Given the description of an element on the screen output the (x, y) to click on. 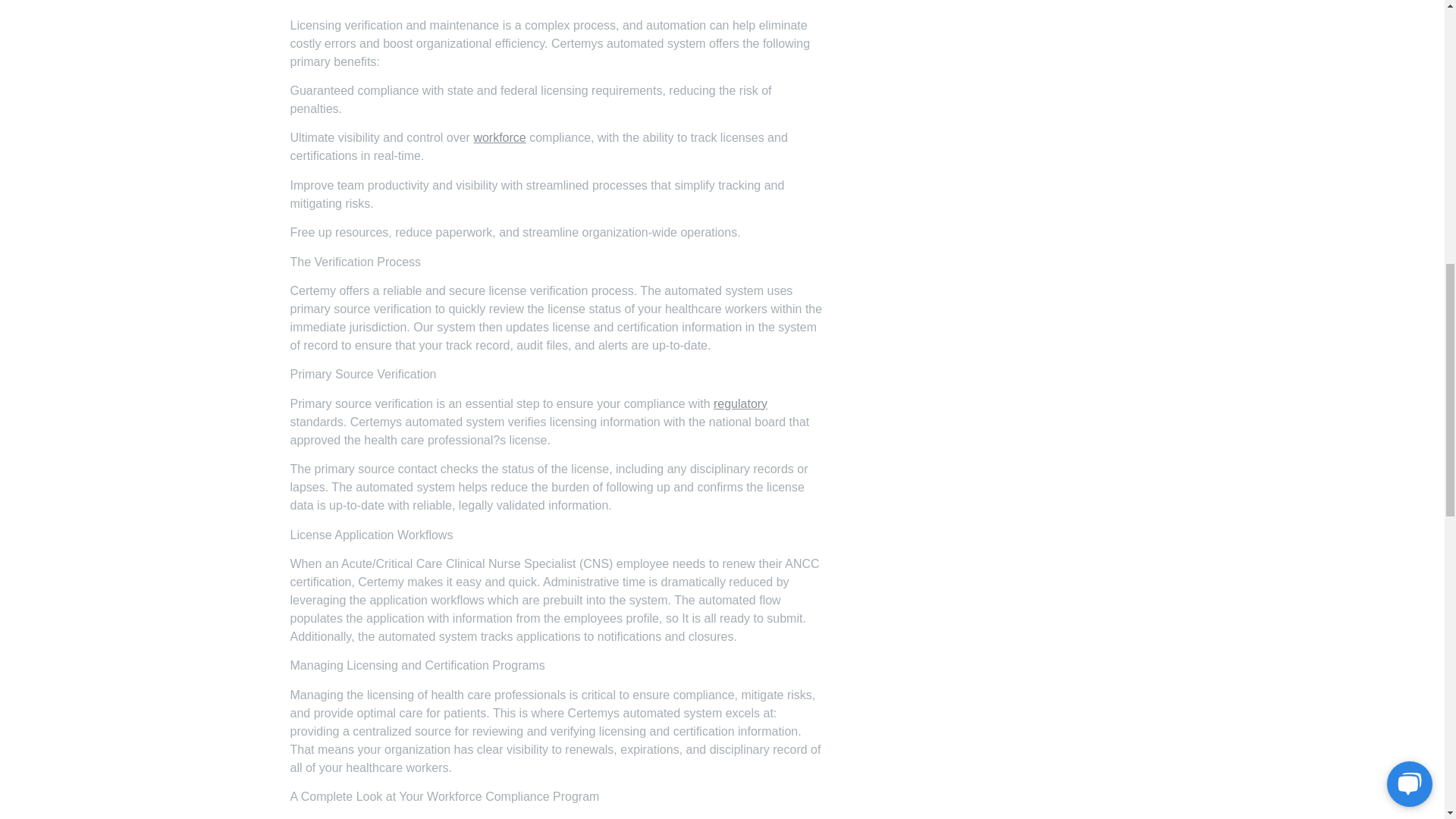
workforce (499, 137)
regulatory (740, 403)
Regulatory (740, 403)
Workforce (499, 137)
